Given the description of an element on the screen output the (x, y) to click on. 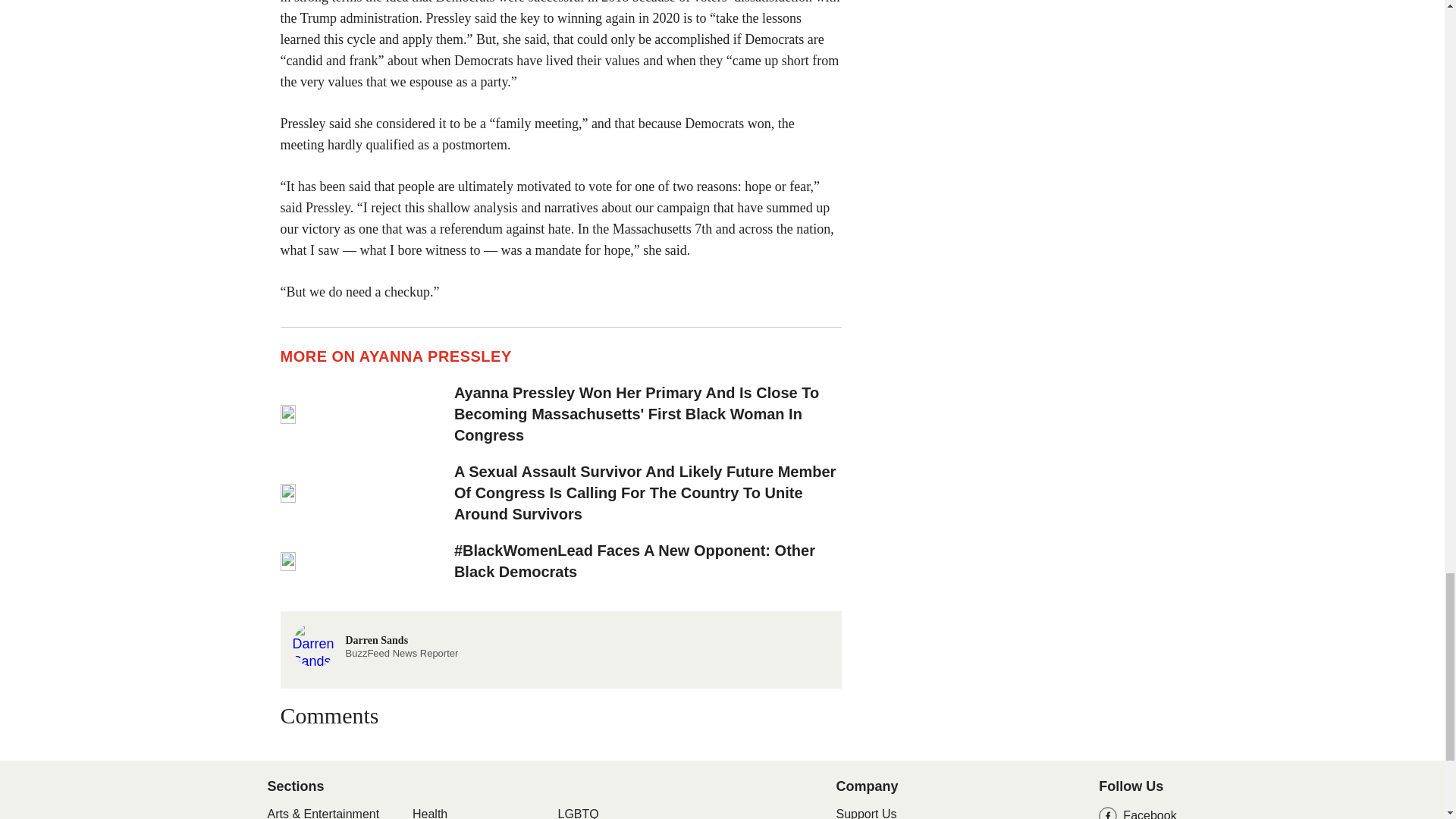
Facebook (1137, 812)
Health (375, 643)
Support Us (429, 812)
LGBTQ (865, 813)
